Given the description of an element on the screen output the (x, y) to click on. 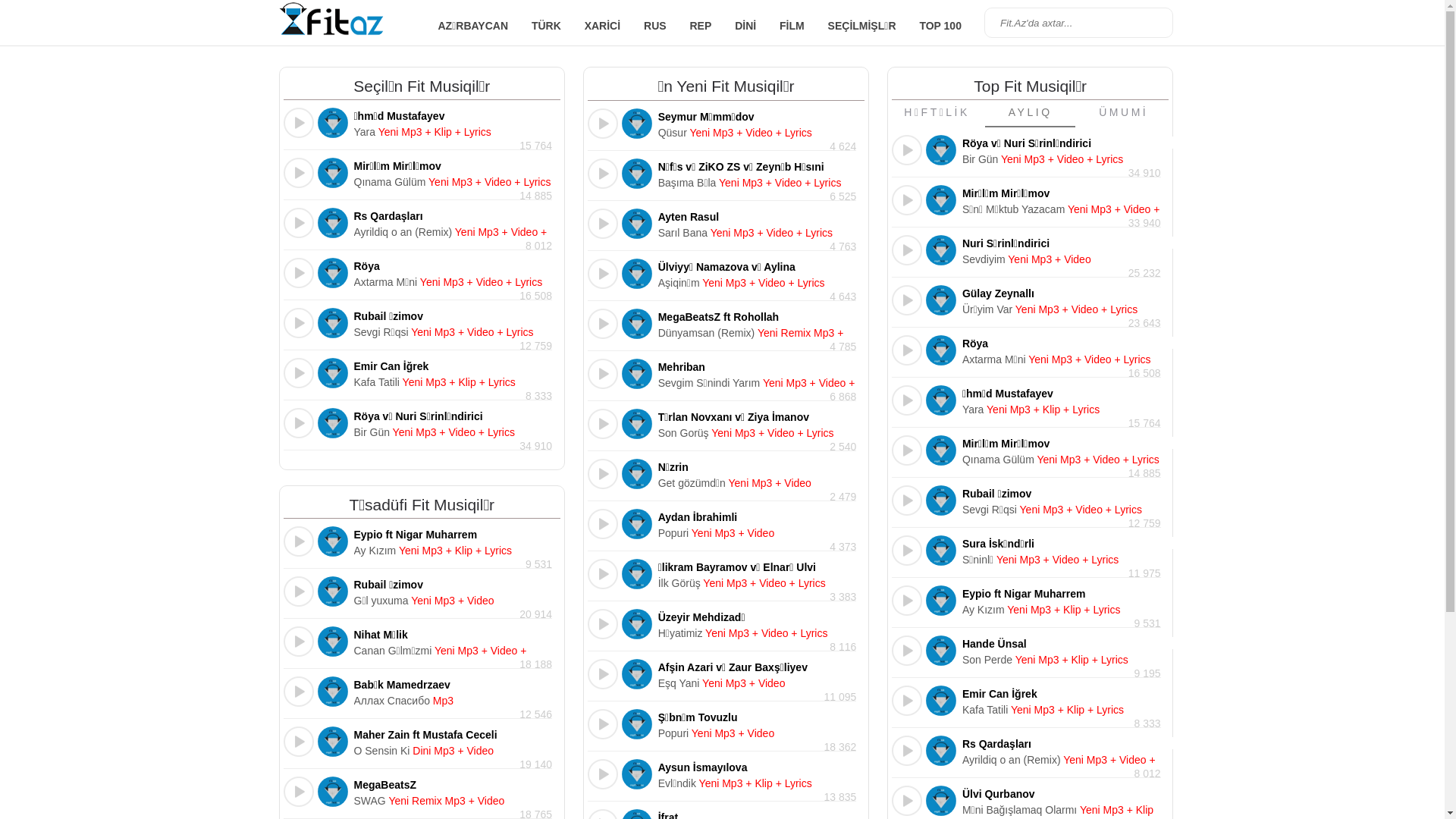
REP Element type: text (700, 25)
RUS Element type: text (654, 25)
MegaBeatsZ
SWAG Yeni Remix Mp3 + Video Element type: text (452, 791)
FILM Element type: text (791, 25)
Axtar Element type: hover (1154, 22)
Maher Zain ft Mustafa Ceceli
O Sensin Ki Dini Mp3 + Video Element type: text (452, 741)
TOP 100 Element type: text (940, 25)
DINI Element type: text (745, 25)
XARICI Element type: text (602, 25)
